Given the description of an element on the screen output the (x, y) to click on. 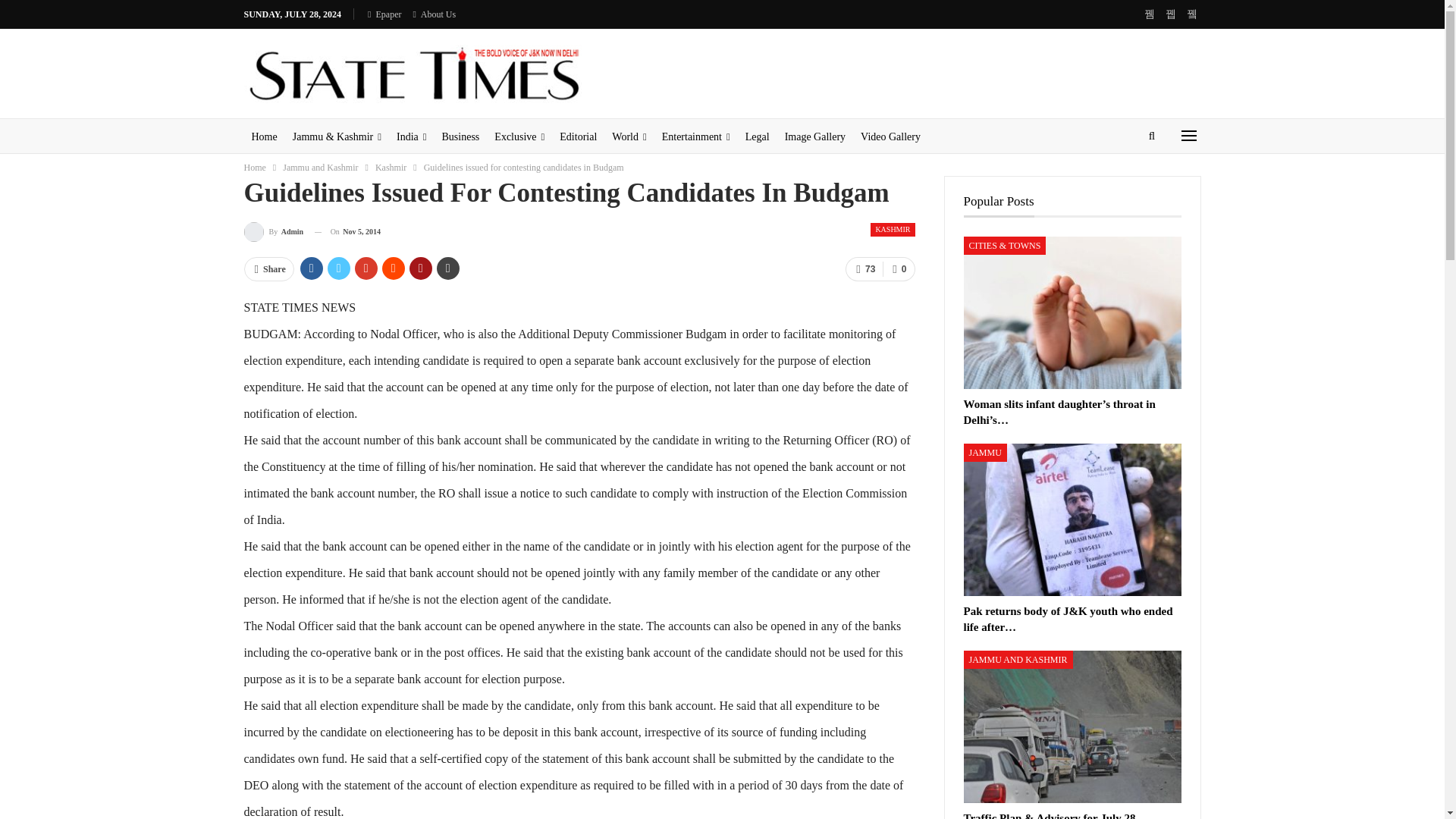
Epaper (384, 14)
